Given the description of an element on the screen output the (x, y) to click on. 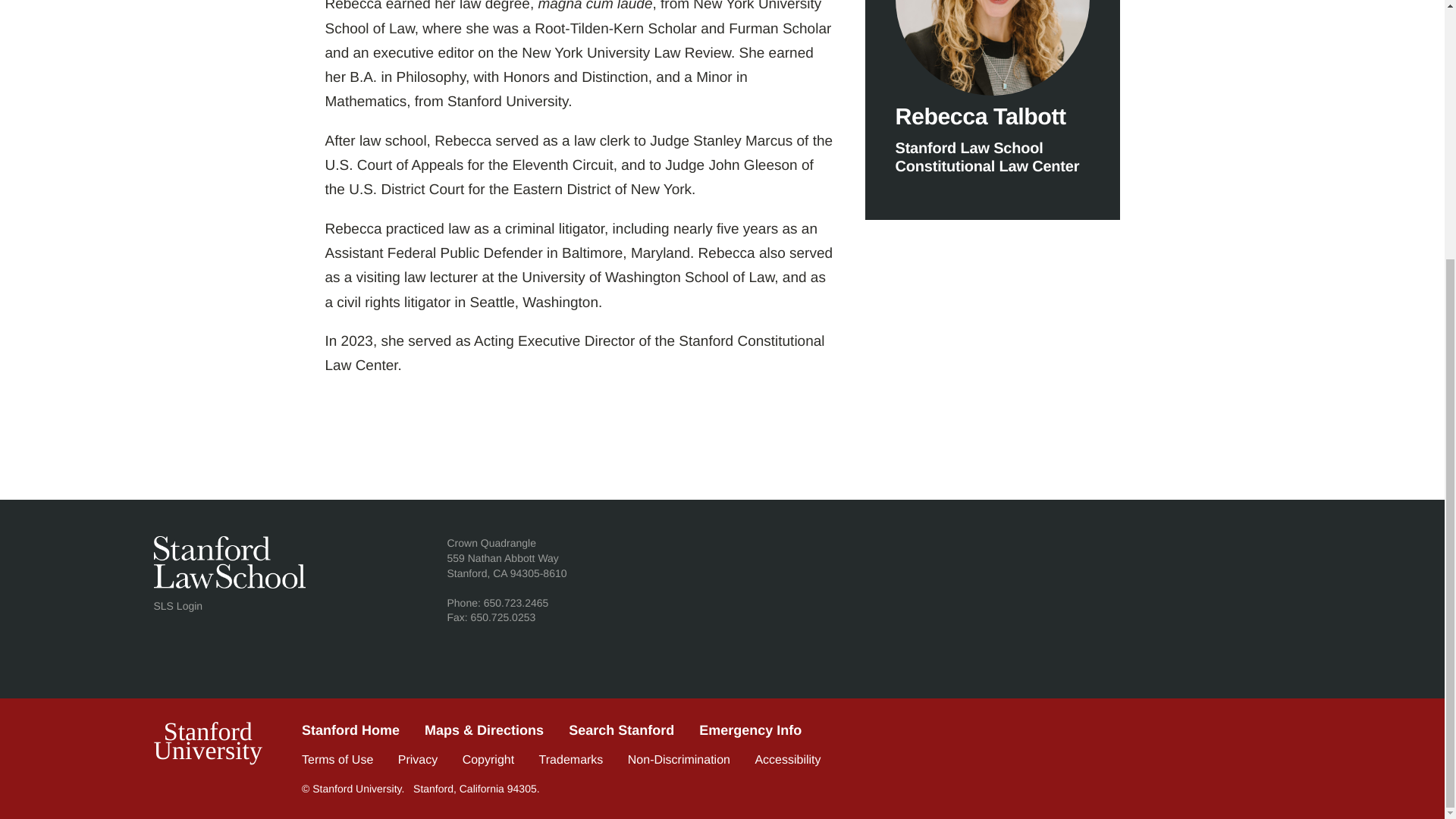
Report alleged copyright infringement (488, 759)
Privacy and cookie policy (417, 759)
Report web accessibility issues (787, 759)
Terms of use for sites (207, 741)
SLS Login (336, 759)
Non-discrimination policy (177, 605)
Common Stanford resources (678, 759)
Ownership and use of Stanford trademarks and images (721, 758)
